Given the description of an element on the screen output the (x, y) to click on. 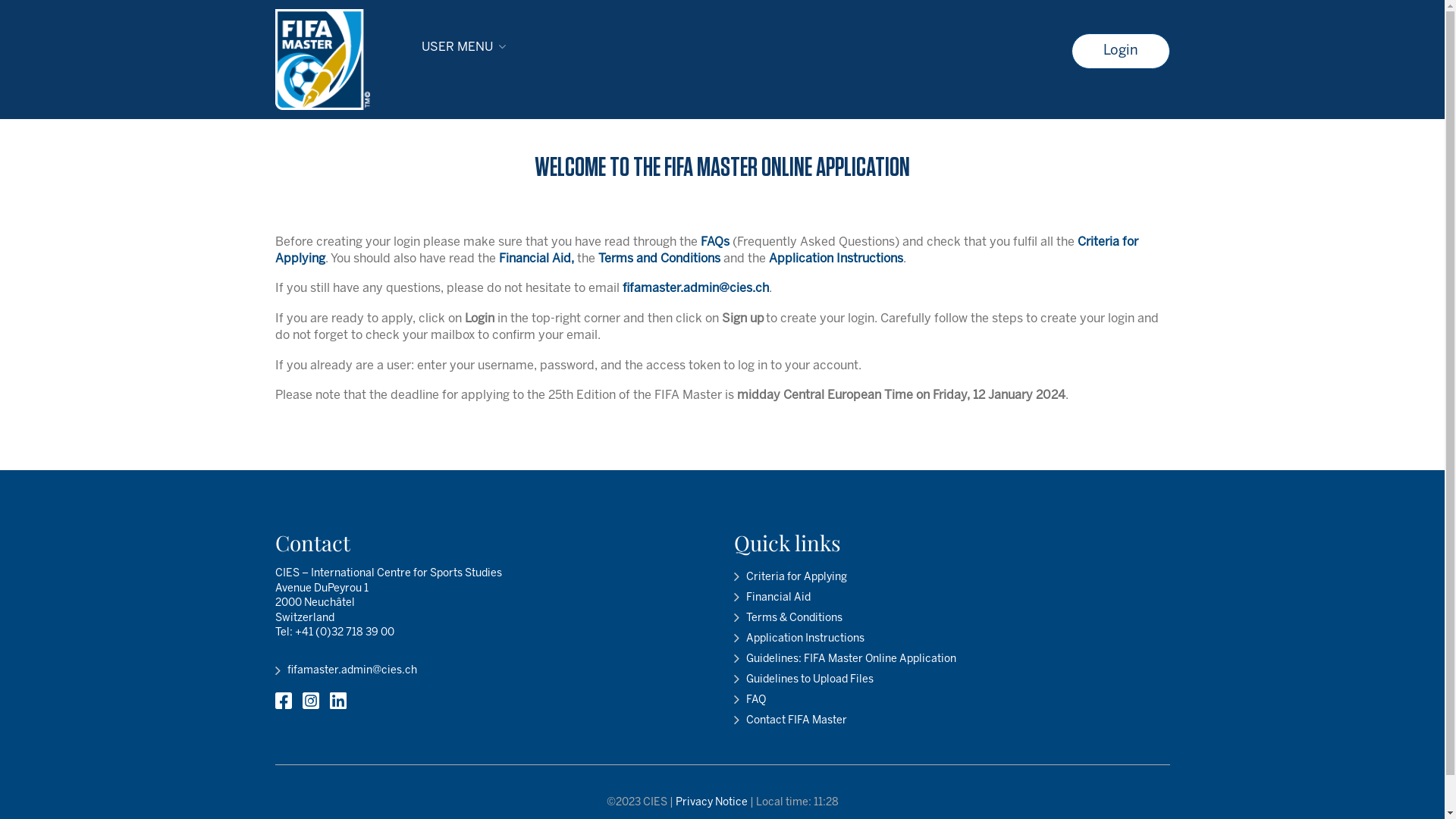
fifamaster.admin@cies.ch Element type: text (345, 672)
Financial Aid, Element type: text (536, 258)
Guidelines: FIFA Master Online Application Element type: text (845, 661)
Terms & Conditions Element type: text (788, 620)
FAQ Element type: text (749, 702)
Application Instructions Element type: text (799, 640)
Terms and Conditions Element type: text (659, 258)
Financial Aid Element type: text (772, 599)
Application Instructions Element type: text (835, 258)
Criteria for Applying Element type: text (790, 579)
Contact FIFA Master Element type: text (790, 722)
Criteria for Applying Element type: text (705, 250)
USER MENU Element type: text (462, 47)
Guidelines to Upload Files Element type: text (803, 681)
Privacy Notice Element type: text (710, 802)
Login Element type: text (1119, 51)
FAQs Element type: text (714, 241)
fifamaster.admin@cies.ch Element type: text (694, 288)
